Given the description of an element on the screen output the (x, y) to click on. 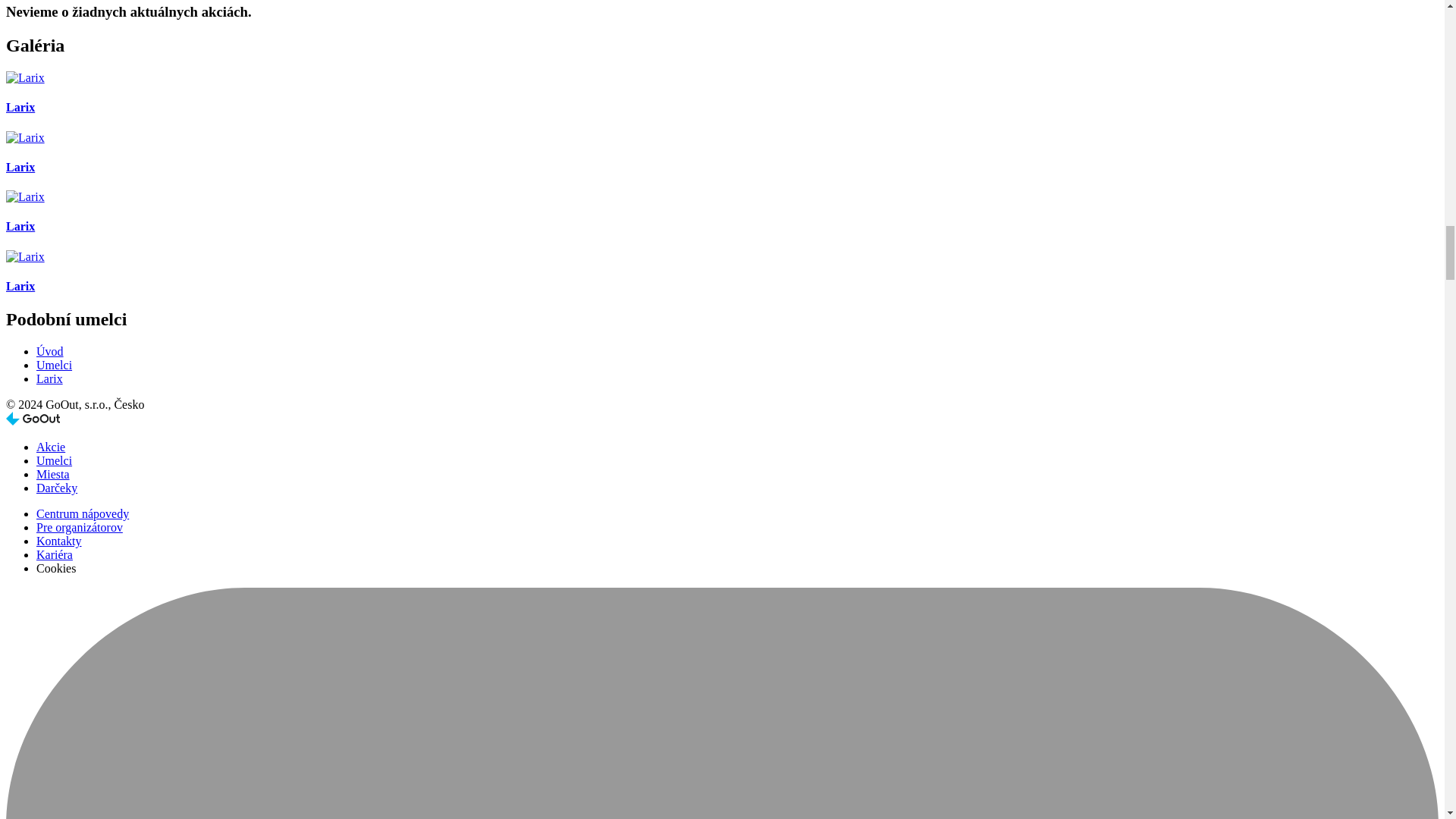
Akcie (50, 446)
Kontakty (58, 540)
Miesta (52, 473)
Larix (49, 378)
Umelci (53, 460)
Umelci (53, 364)
